Given the description of an element on the screen output the (x, y) to click on. 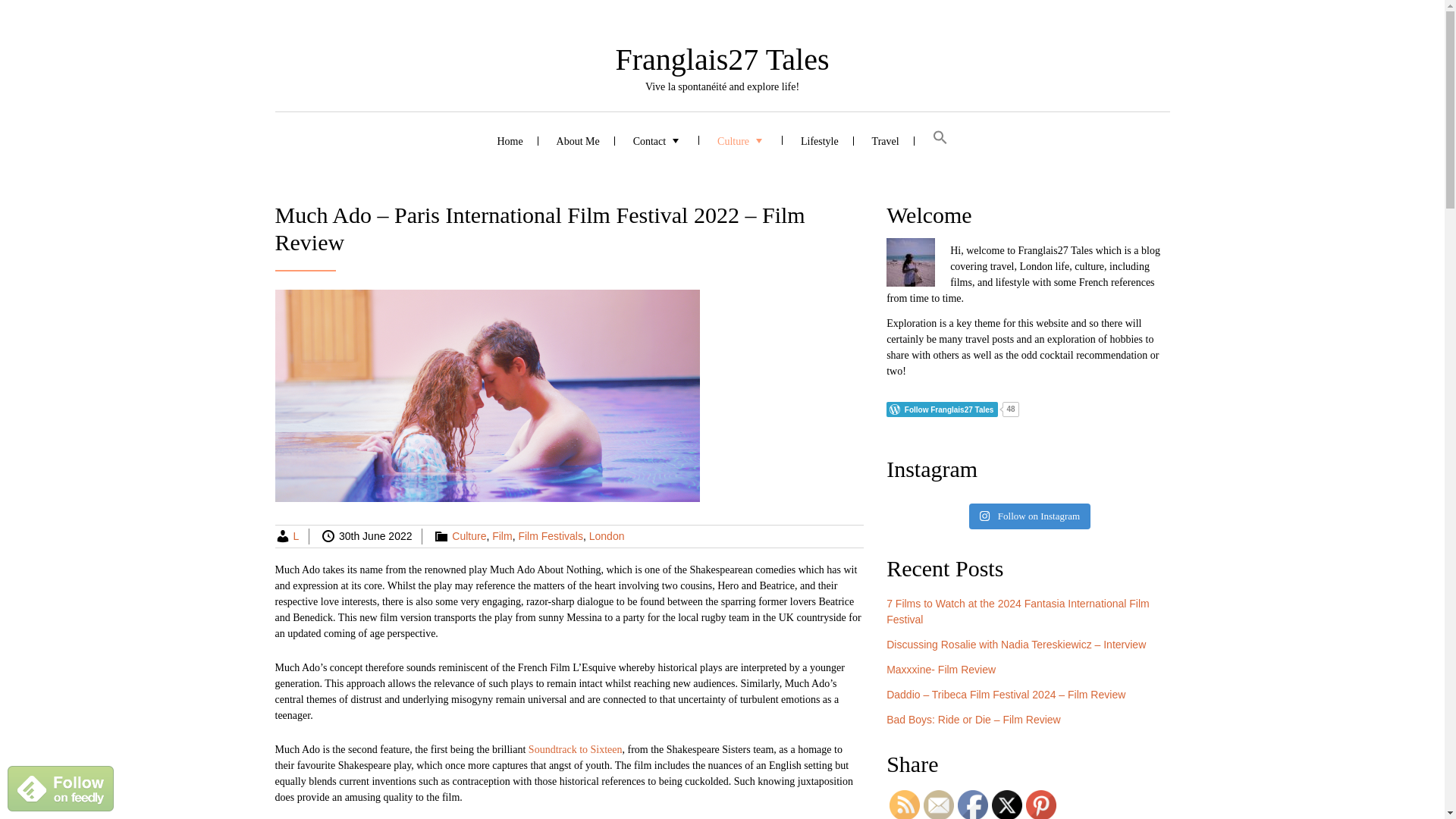
Home (509, 139)
Follow Button (1027, 409)
Franglais27 Tales (722, 59)
Culture (742, 139)
Film Festivals (550, 535)
Lifestyle (819, 139)
London (606, 535)
Film (502, 535)
About Me (577, 139)
Soundtrack to Sixteen (575, 749)
Culture (468, 535)
Travel (885, 139)
RSS (904, 804)
Contact (658, 139)
